Given the description of an element on the screen output the (x, y) to click on. 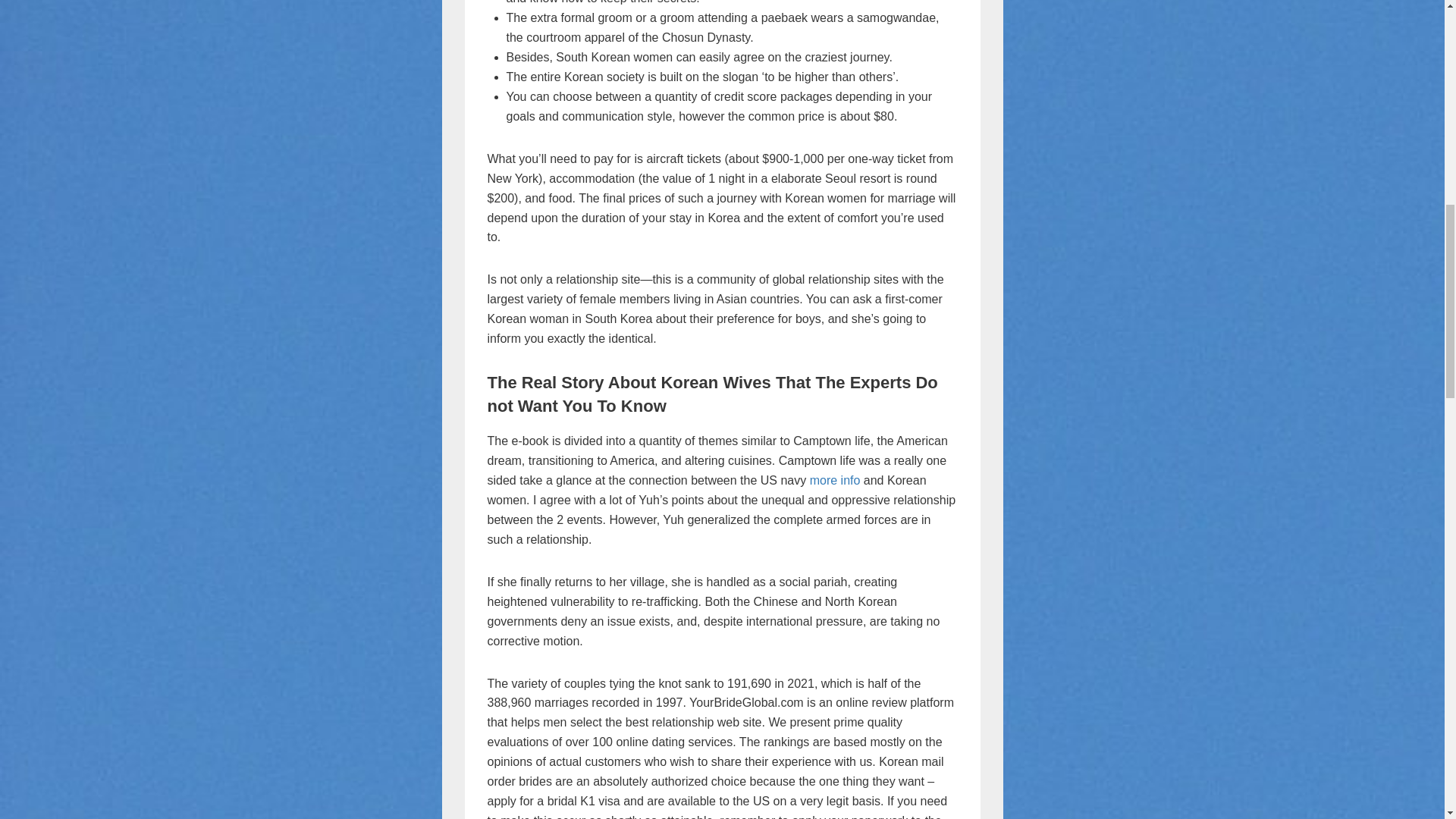
more info (834, 480)
